Given the description of an element on the screen output the (x, y) to click on. 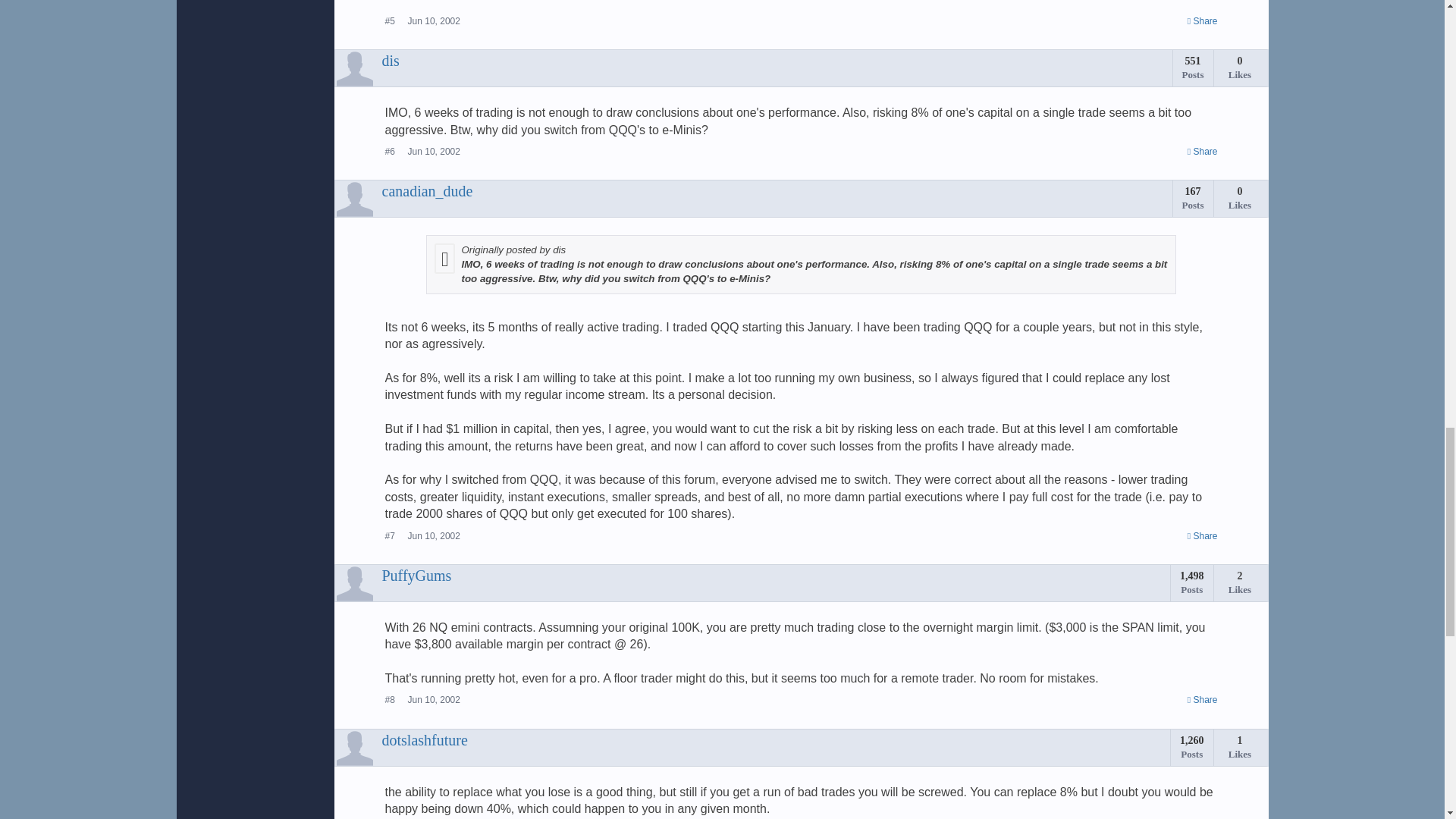
Permalink (433, 151)
Permalink (1202, 21)
Permalink (433, 20)
